Given the description of an element on the screen output the (x, y) to click on. 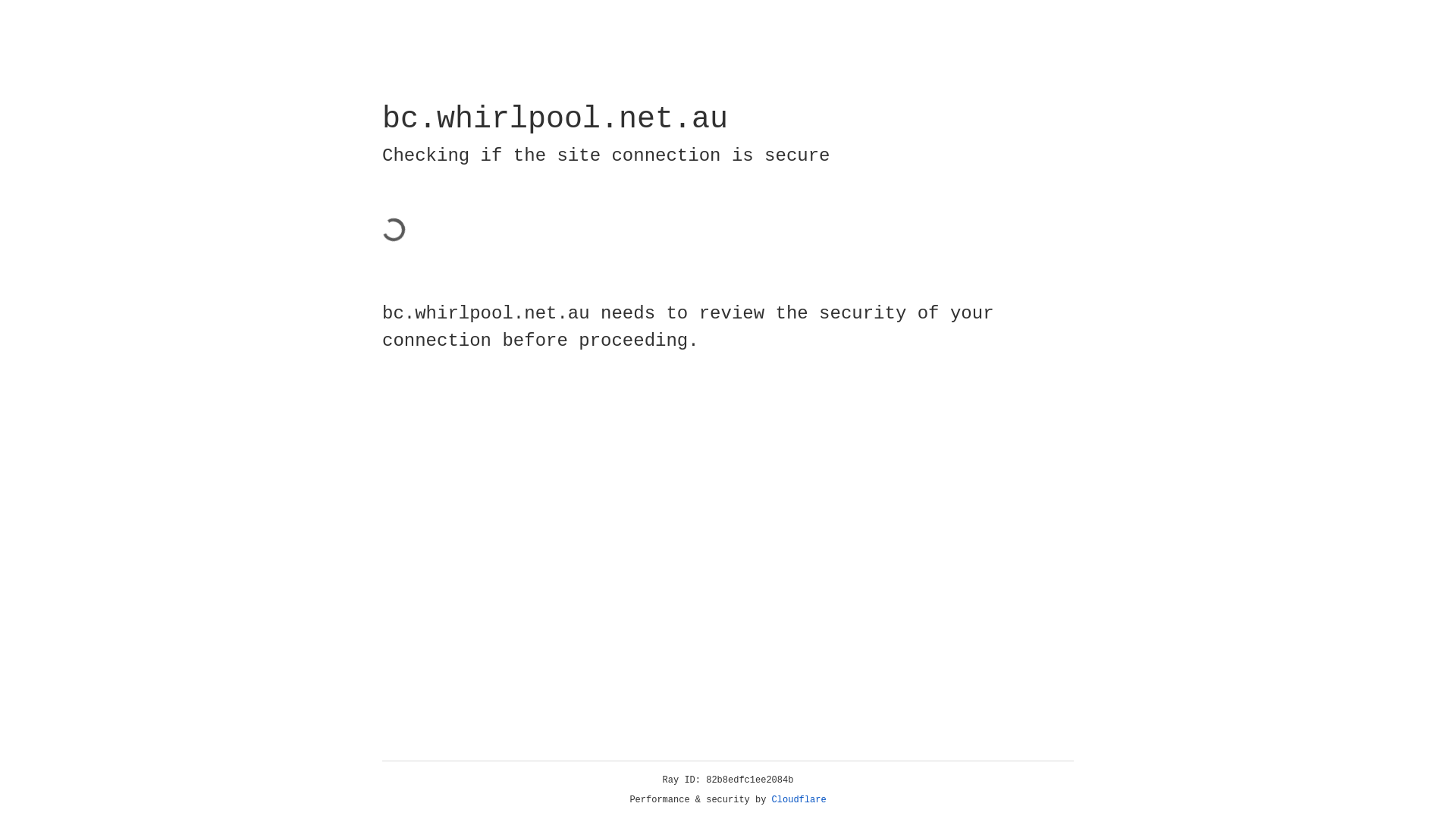
Cloudflare Element type: text (798, 799)
